Given the description of an element on the screen output the (x, y) to click on. 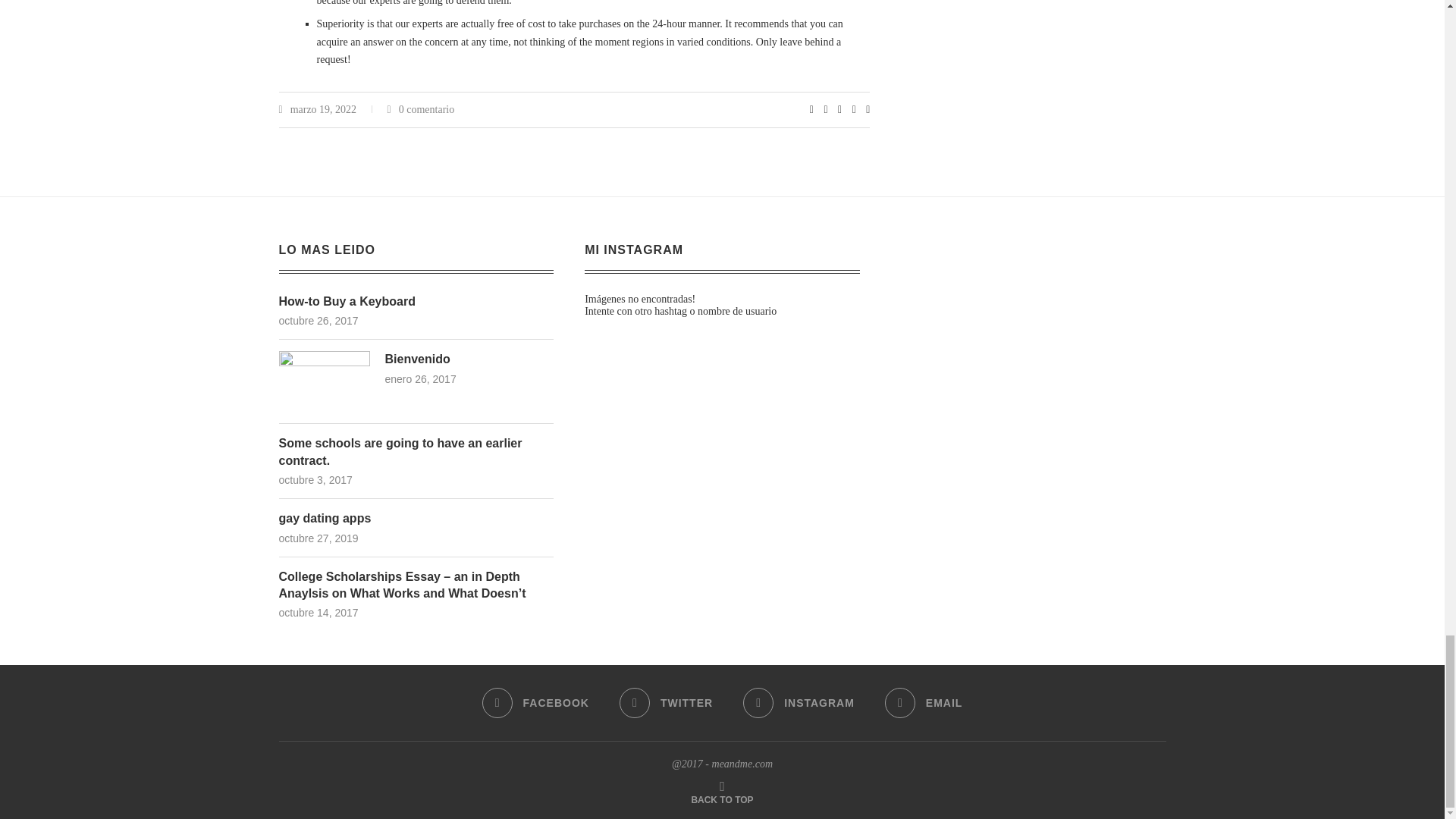
Bienvenido (469, 359)
0 comentario (420, 109)
Some schools are going to have an earlier contract. (416, 451)
How-to Buy a Keyboard (416, 301)
gay dating apps (416, 518)
Bienvenido (324, 357)
